Given the description of an element on the screen output the (x, y) to click on. 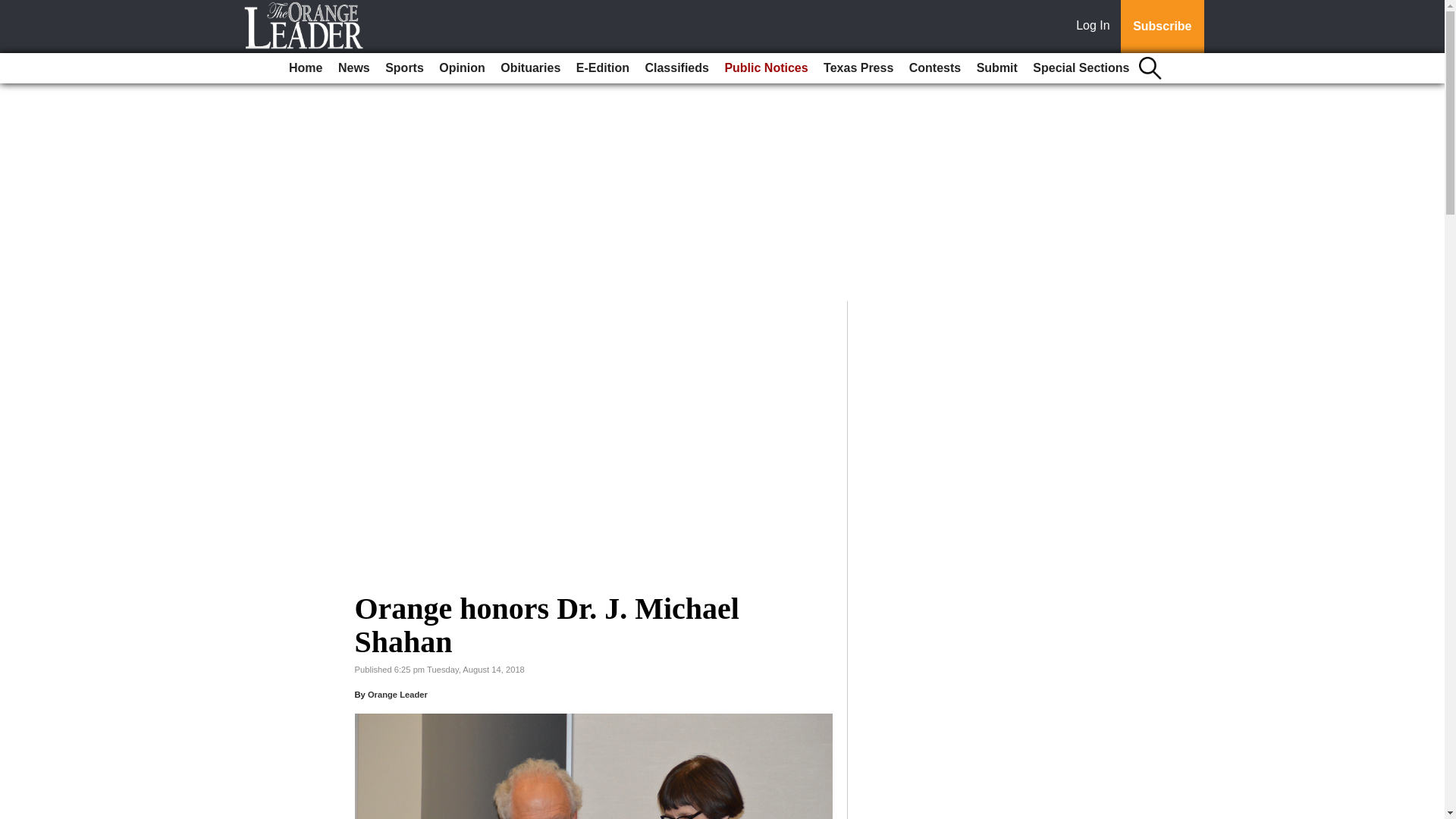
Submit (997, 68)
Log In (1095, 26)
Sports (403, 68)
Classifieds (676, 68)
Public Notices (765, 68)
E-Edition (602, 68)
Subscribe (1162, 26)
Contests (934, 68)
Texas Press (857, 68)
News (353, 68)
Special Sections (1080, 68)
Go (13, 9)
Home (305, 68)
Opinion (461, 68)
Obituaries (530, 68)
